Given the description of an element on the screen output the (x, y) to click on. 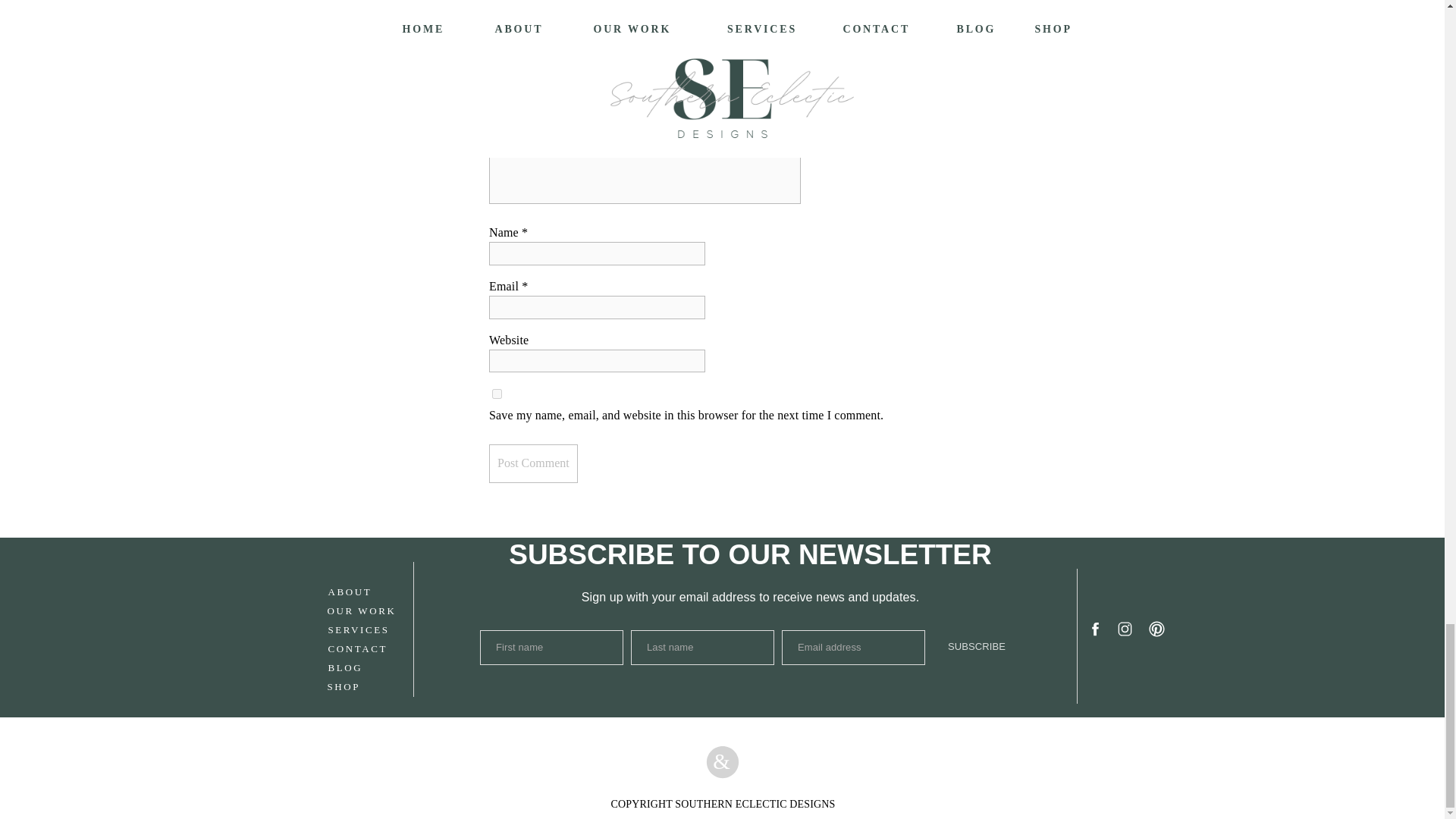
Post Comment (533, 463)
SHOP (384, 685)
ABOUT (384, 590)
CONTACT (384, 647)
Post Comment (533, 463)
COPYRIGHT SOUTHERN ECLECTIC DESIGNS (722, 804)
yes (497, 393)
BLOG (384, 666)
SERVICES (384, 628)
OUR WORK (384, 609)
SUBSCRIBE (976, 646)
